Given the description of an element on the screen output the (x, y) to click on. 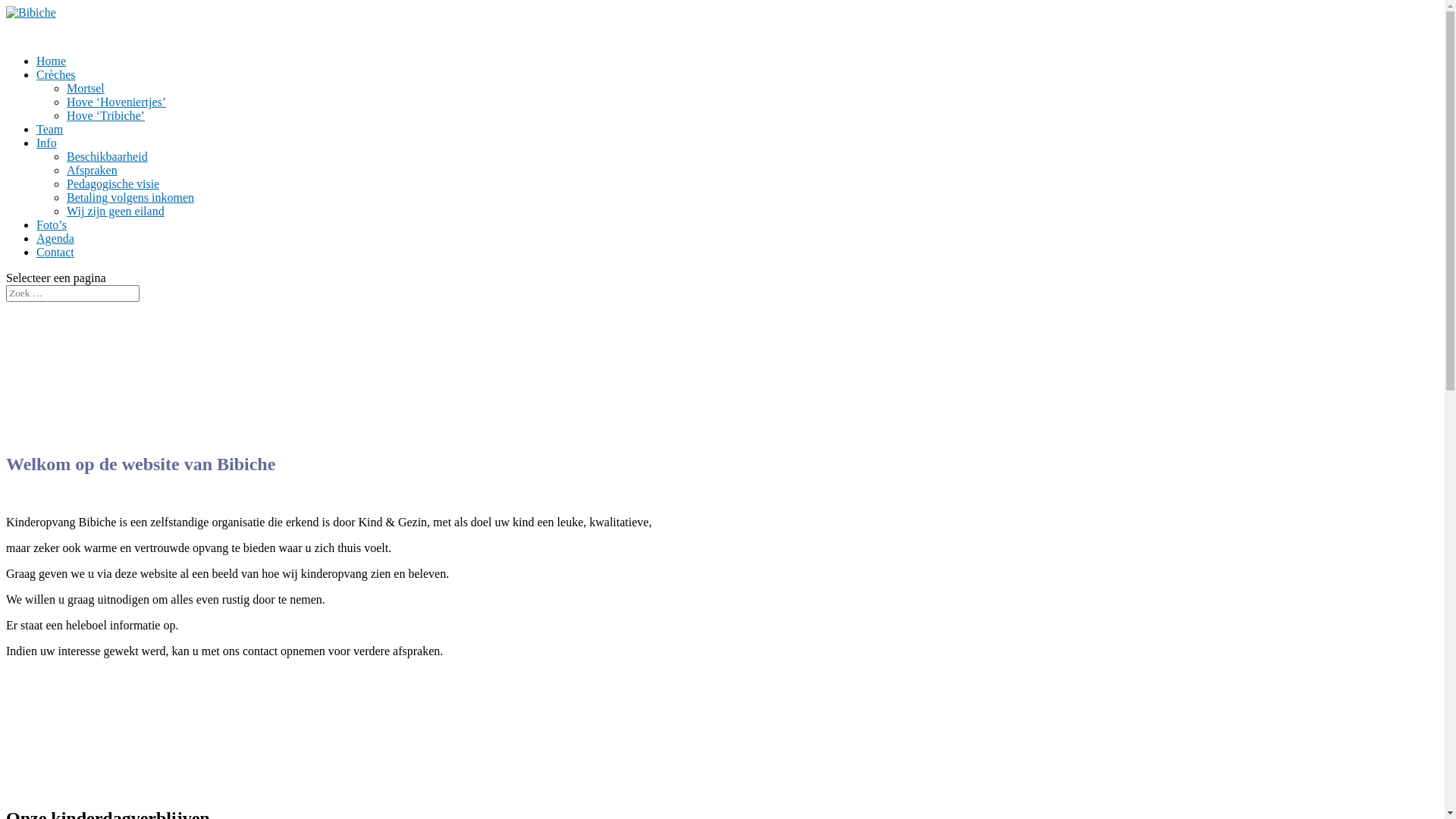
Betaling volgens inkomen Element type: text (130, 197)
Contact Element type: text (55, 251)
Pedagogische visie Element type: text (112, 183)
Mortsel Element type: text (85, 87)
Agenda Element type: text (55, 238)
Zoek naar: Element type: hover (72, 293)
Beschikbaarheid Element type: text (106, 156)
Info Element type: text (46, 142)
Wij zijn geen eiland Element type: text (115, 210)
Home Element type: text (50, 60)
Afspraken Element type: text (91, 169)
Team Element type: text (49, 128)
